Given the description of an element on the screen output the (x, y) to click on. 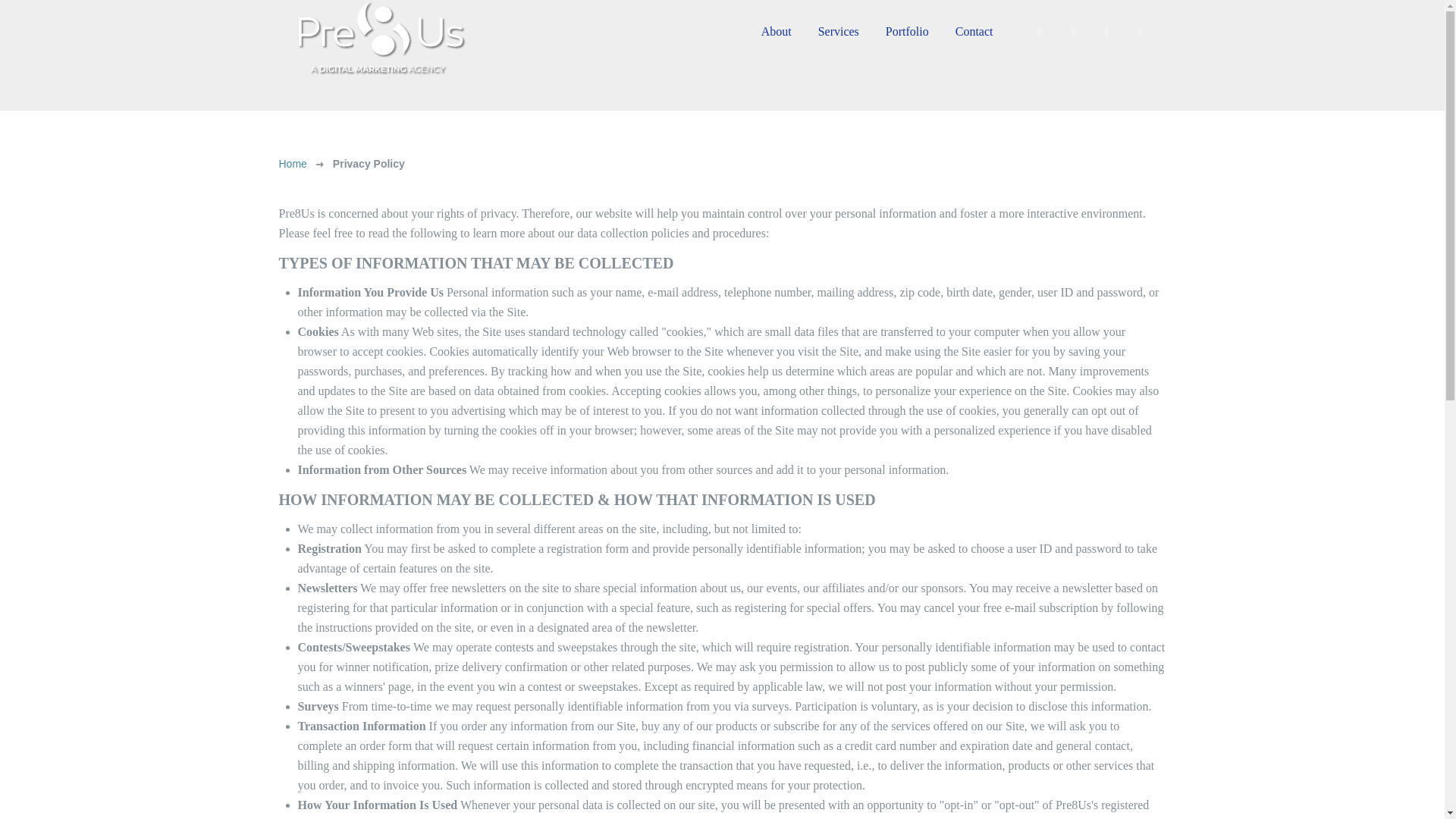
twitter (1073, 31)
Services (838, 30)
Portfolio (906, 30)
About (776, 30)
facebook (1040, 31)
Contact (973, 30)
instagram (1140, 31)
linkedin (1107, 31)
Home (293, 163)
